Given the description of an element on the screen output the (x, y) to click on. 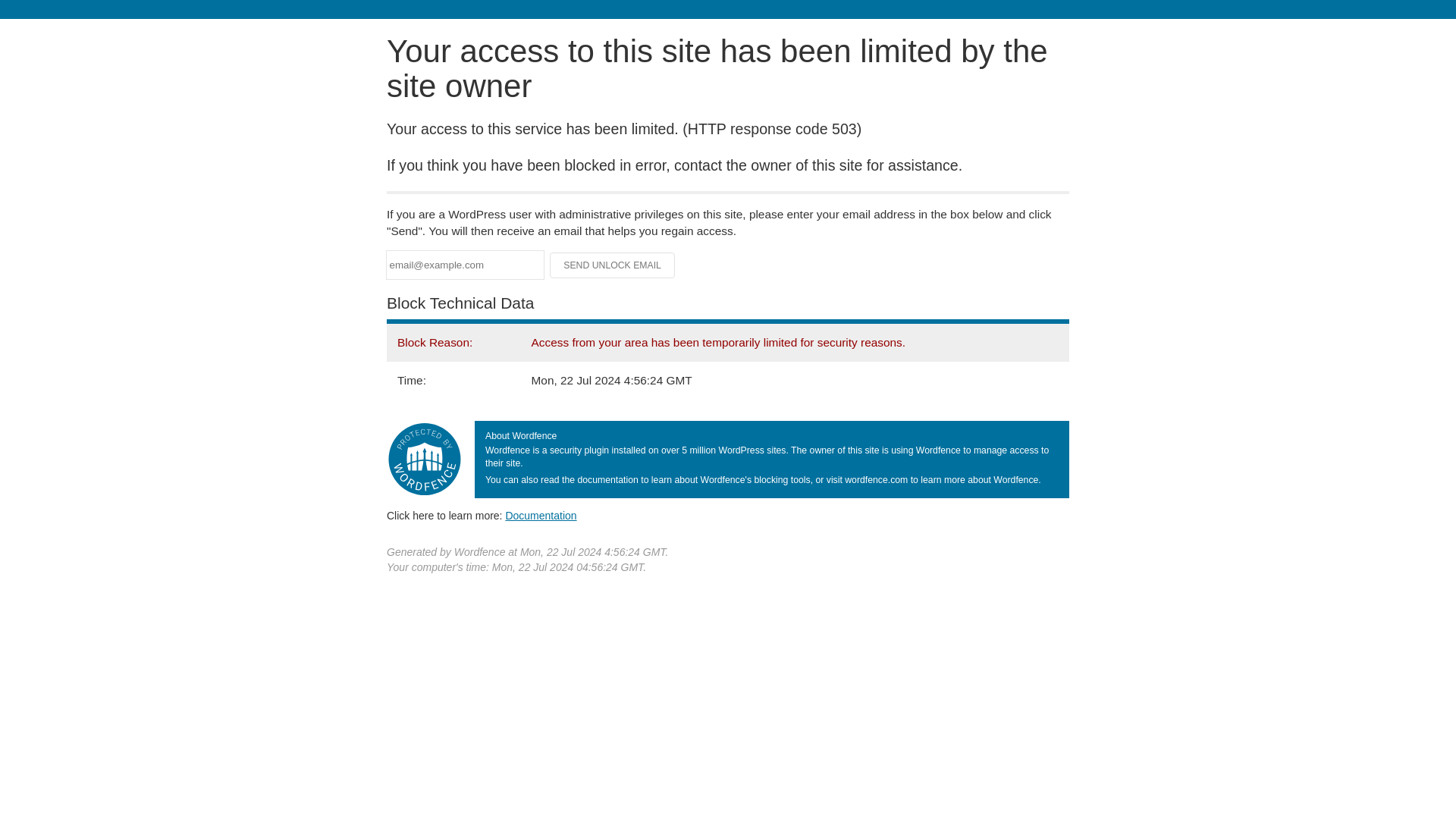
Documentation (540, 515)
Send Unlock Email (612, 265)
Send Unlock Email (612, 265)
